Given the description of an element on the screen output the (x, y) to click on. 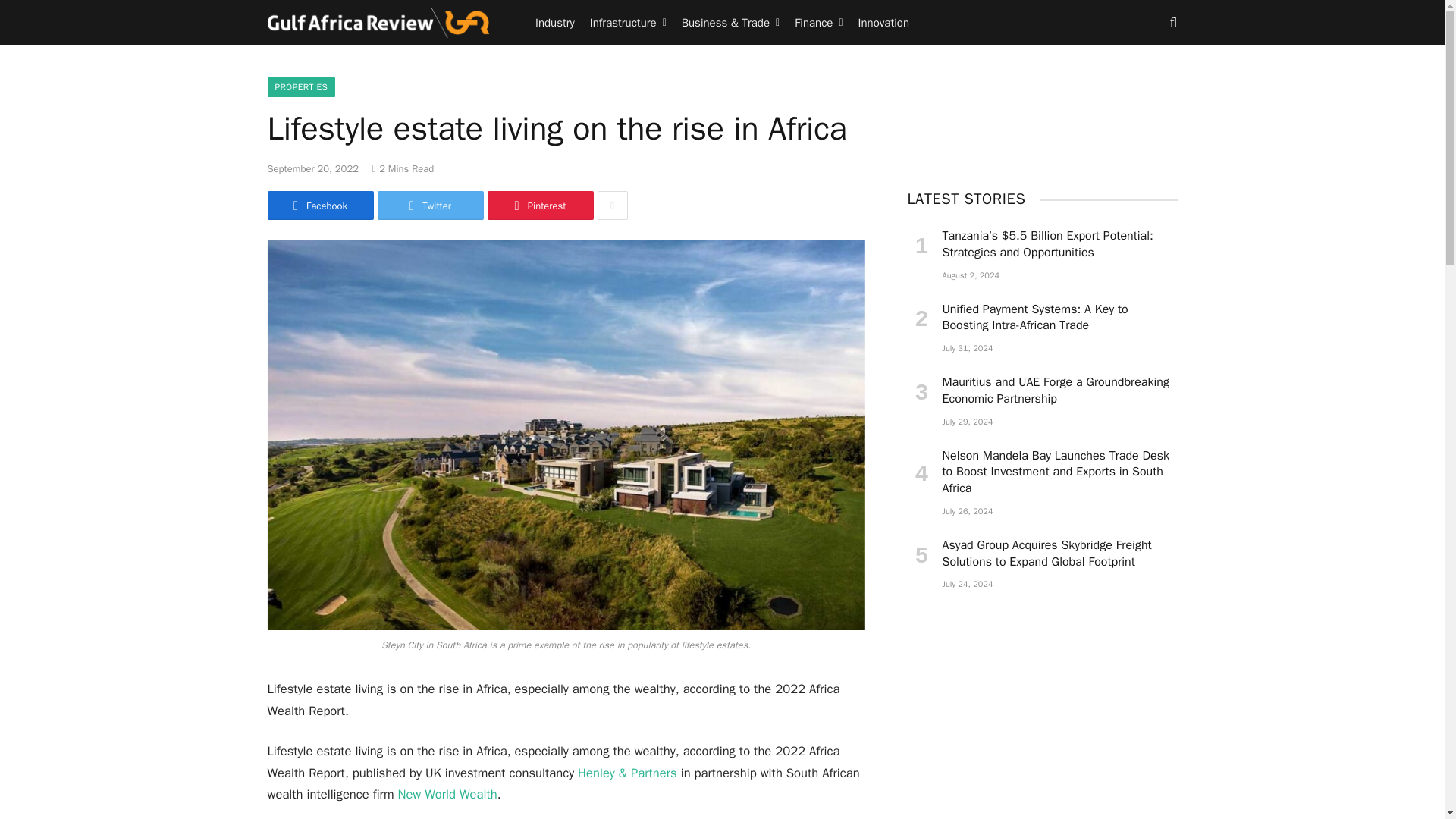
Gulf Africa Review (377, 22)
Infrastructure (628, 22)
Industry (554, 22)
